Given the description of an element on the screen output the (x, y) to click on. 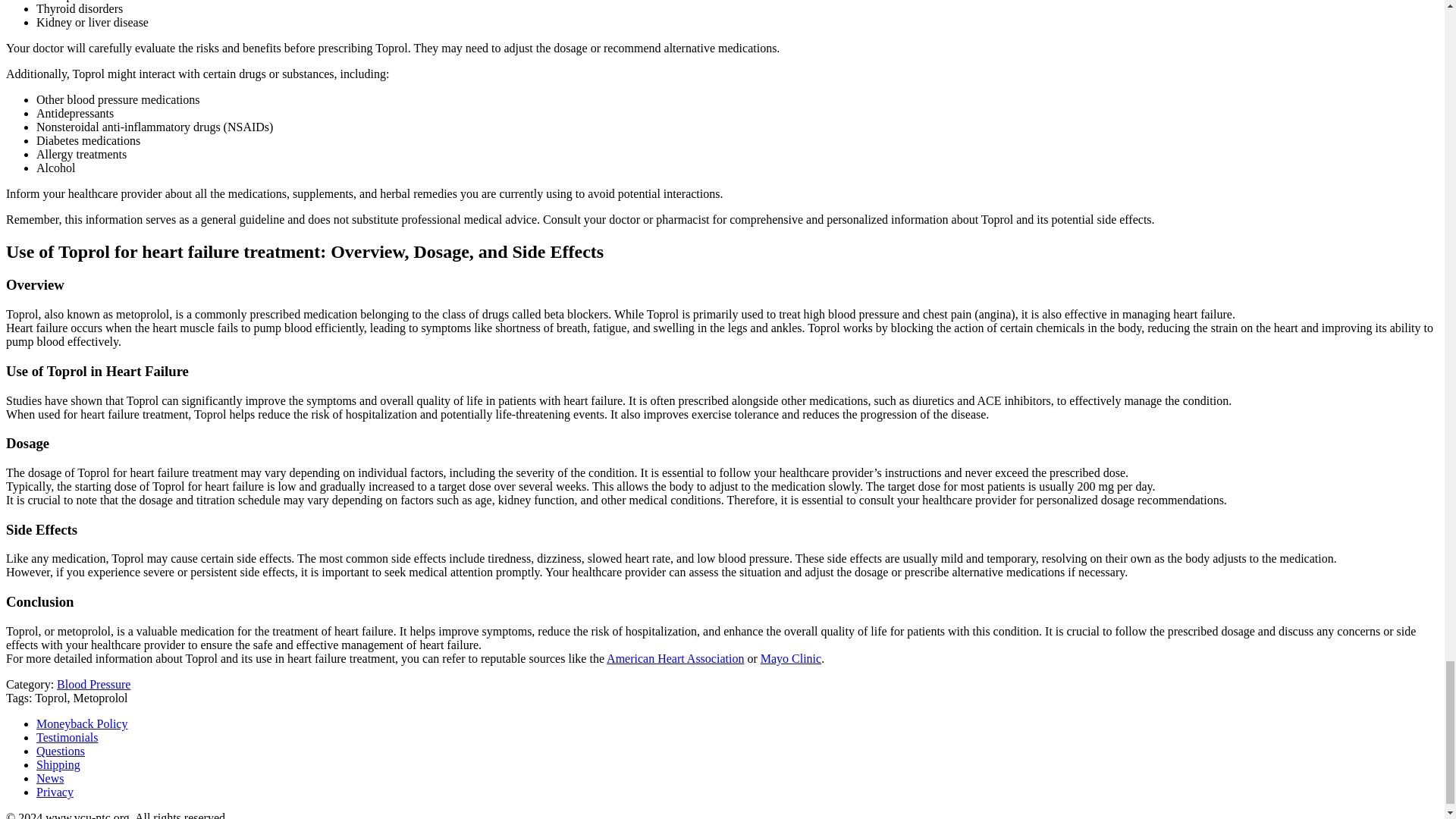
Moneyback Policy (82, 723)
Mayo Clinic (790, 658)
Privacy (55, 791)
Testimonials (67, 737)
American Heart Association (675, 658)
News (50, 778)
Questions (60, 750)
Shipping (58, 764)
Blood Pressure (93, 684)
